Given the description of an element on the screen output the (x, y) to click on. 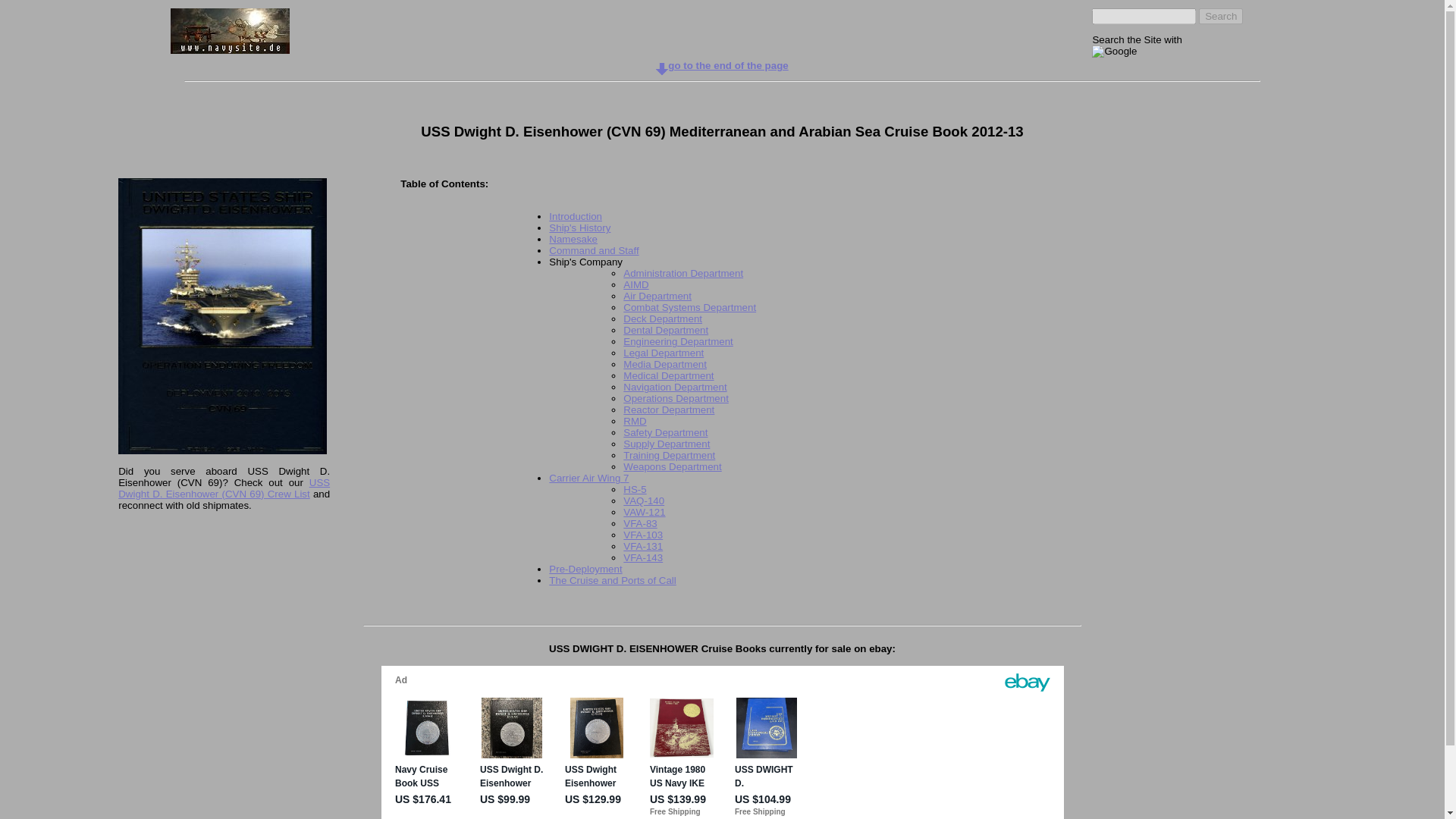
Reactor Department (668, 409)
Introduction (575, 215)
VFA-103 (642, 534)
Weapons Department (671, 466)
Air Department (657, 296)
Deck Department (662, 318)
RMD (634, 420)
Training Department (668, 455)
VFA-143 (642, 557)
Legal Department (663, 352)
Search (1220, 16)
Safety Department (665, 432)
Namesake (572, 238)
Combat Systems Department (689, 307)
AIMD (635, 284)
